Given the description of an element on the screen output the (x, y) to click on. 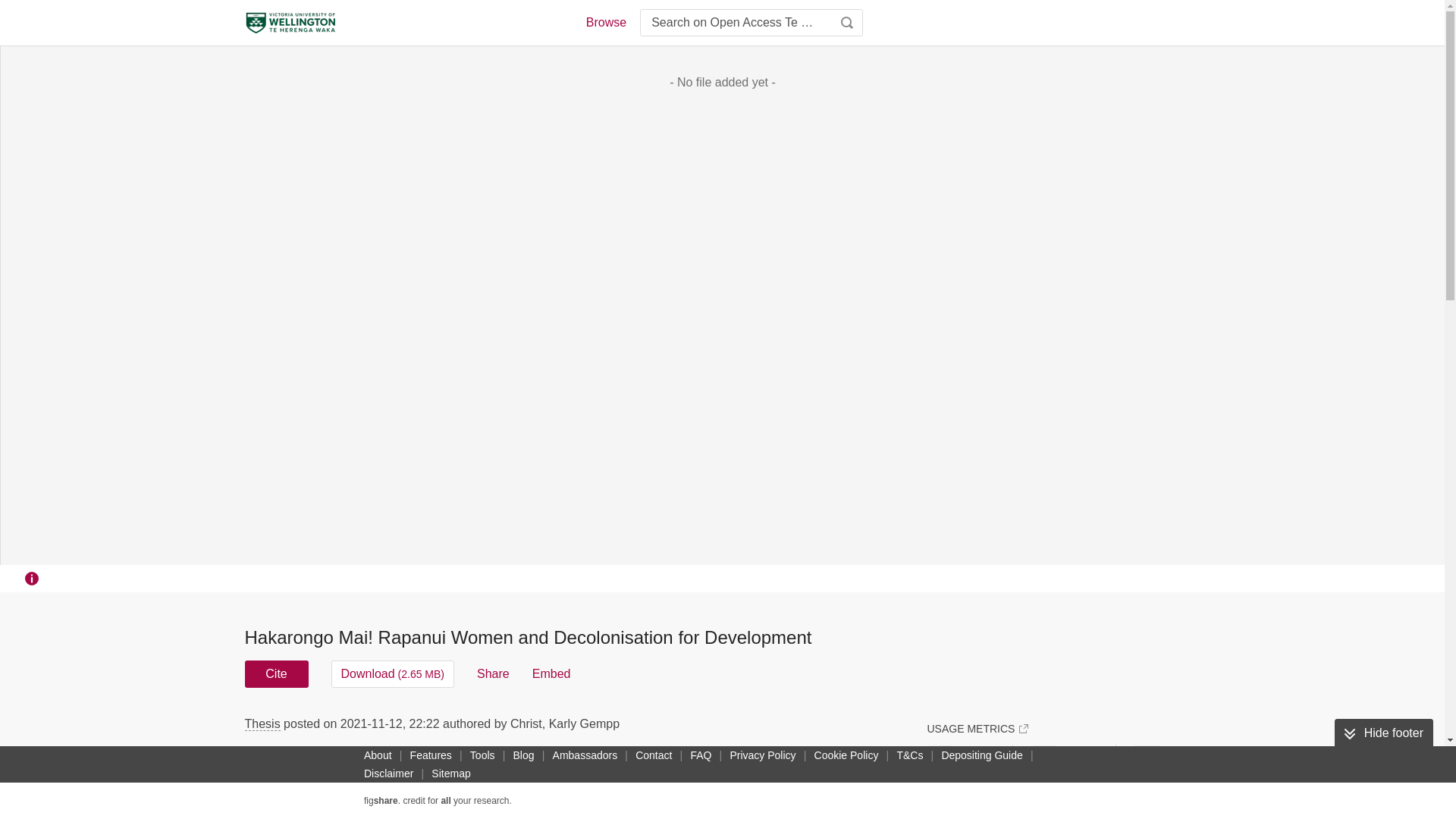
About (377, 755)
Hide footer (1383, 733)
Share (493, 673)
USAGE METRICS (976, 728)
Browse (605, 22)
Features (431, 755)
Tools (482, 755)
Contact (653, 755)
Cite (275, 673)
Blog (523, 755)
